Given the description of an element on the screen output the (x, y) to click on. 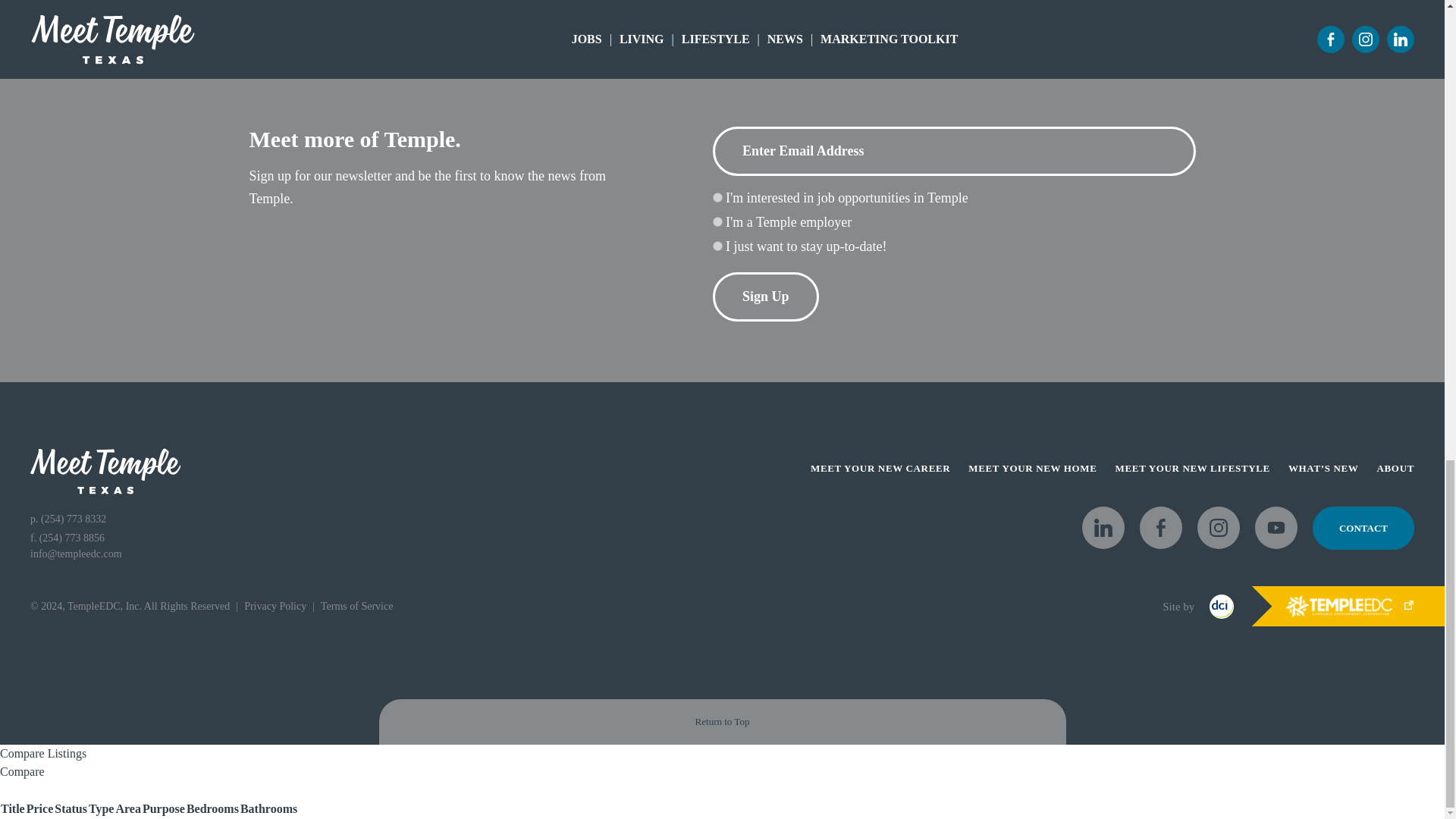
Sign Up (765, 296)
Return to Top (721, 721)
Sign Up (765, 296)
MEET YOUR NEW CAREER (880, 468)
MEET YOUR NEW LIFESTYLE (1192, 468)
Job Seeker (717, 197)
MEET YOUR NEW HOME (1032, 468)
Employer (717, 221)
